Given the description of an element on the screen output the (x, y) to click on. 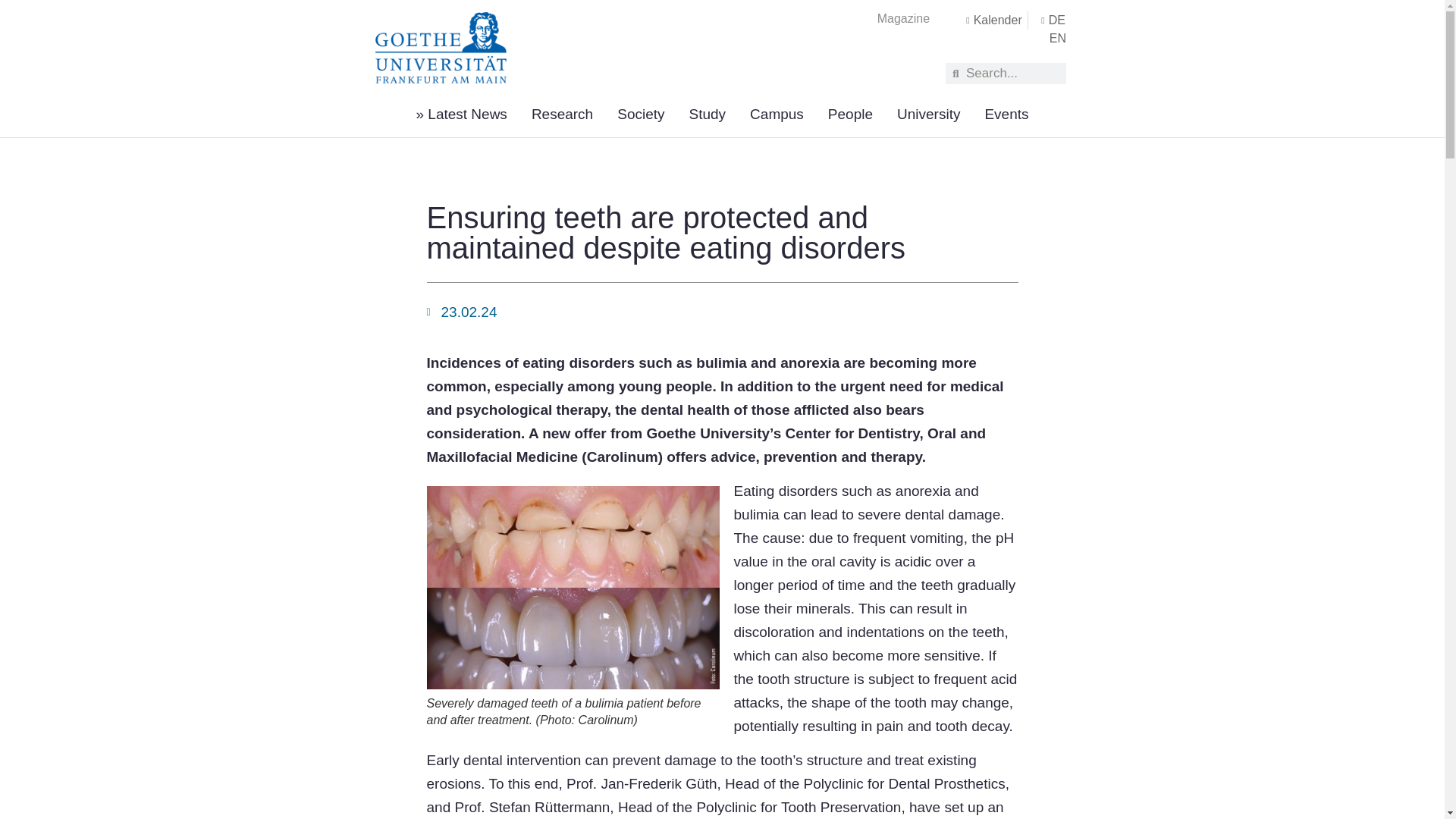
Magazine (903, 18)
Campus (776, 114)
23.02.24 (461, 312)
University (927, 114)
Research (561, 114)
EN (1057, 38)
Study (707, 114)
Society (640, 114)
DE (1049, 20)
Kalender (990, 20)
